Given the description of an element on the screen output the (x, y) to click on. 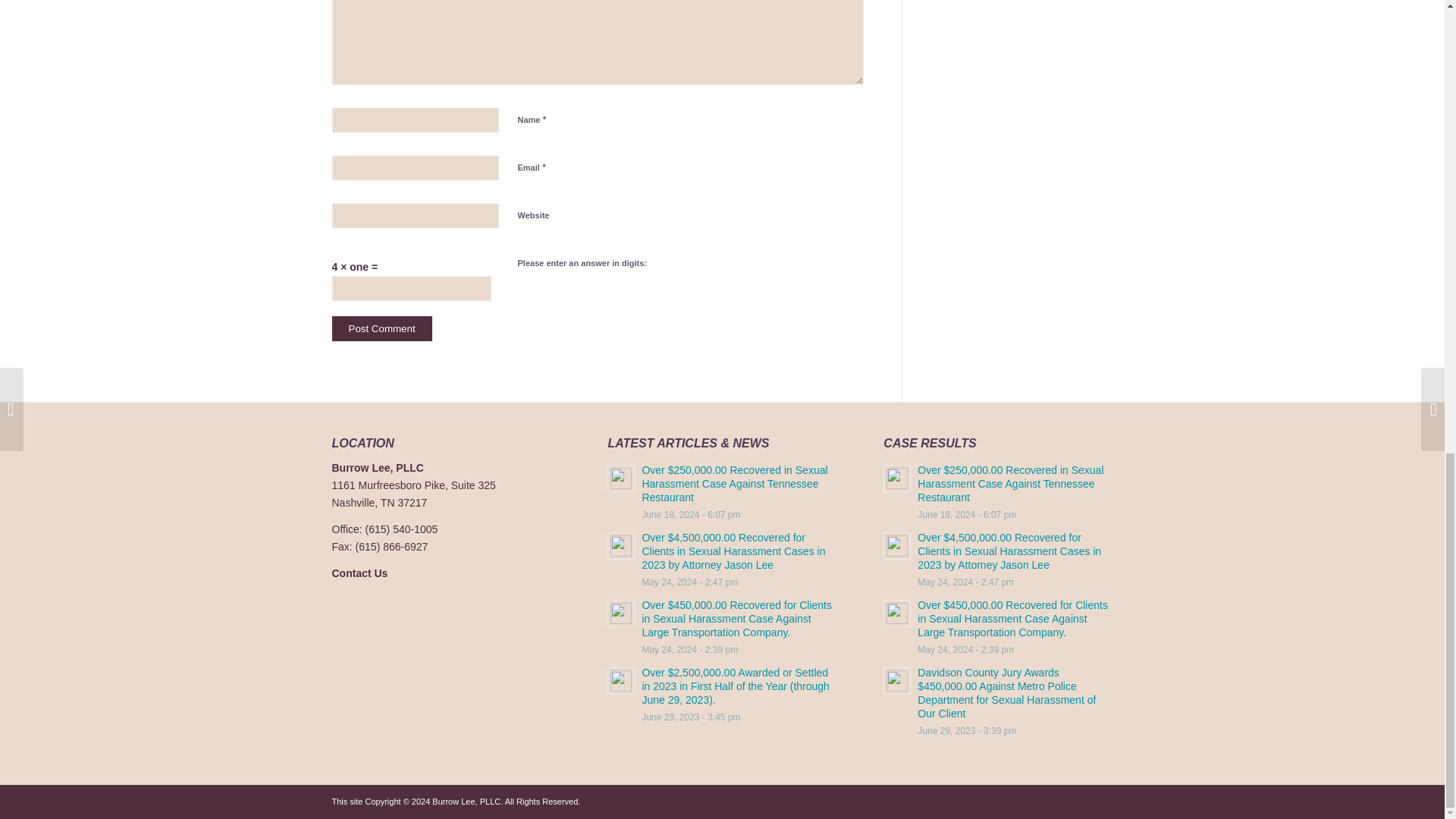
Post Comment (381, 328)
